Given the description of an element on the screen output the (x, y) to click on. 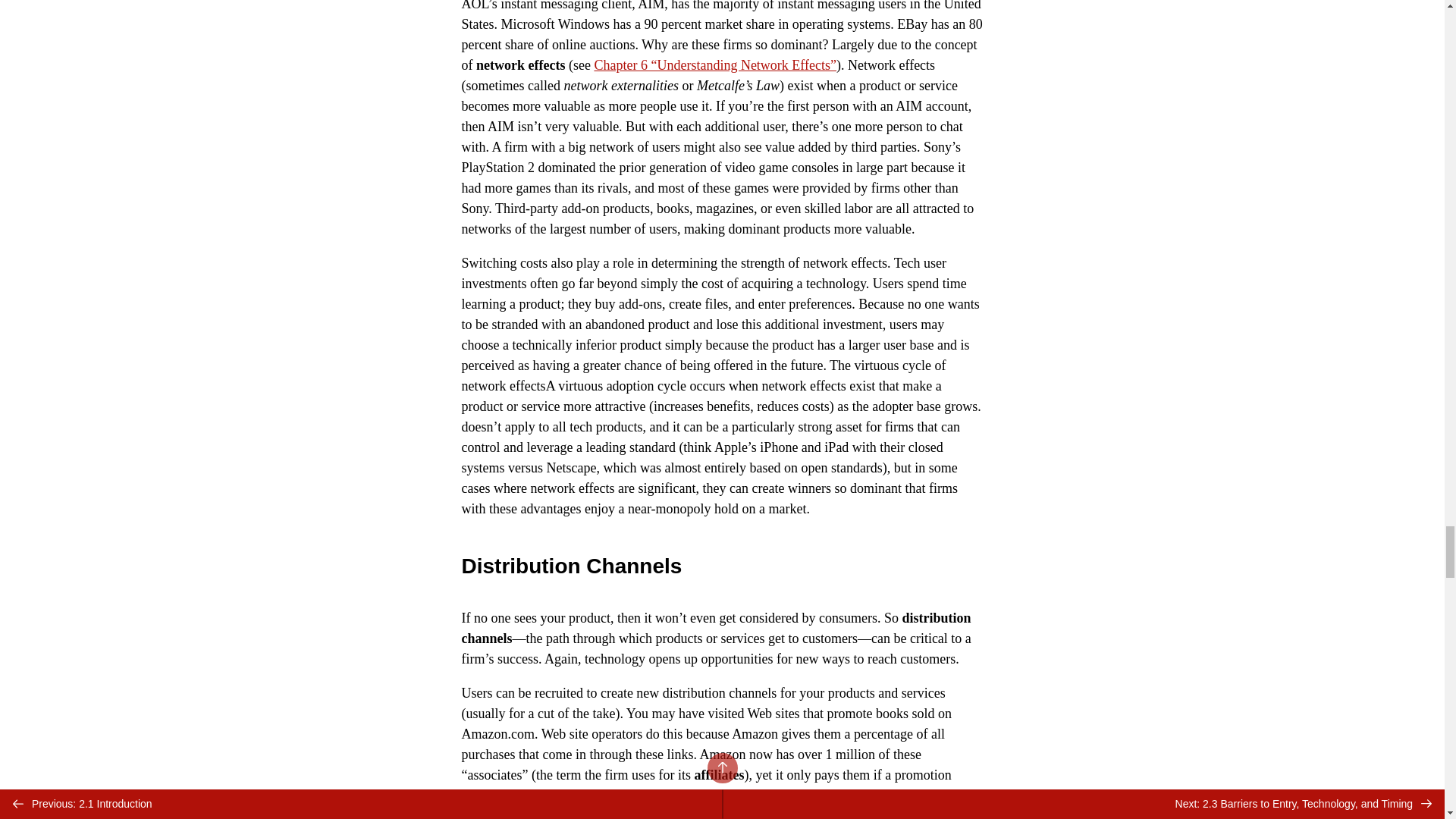
affiliates (719, 774)
network effects (520, 64)
distribution channels (716, 628)
